Given the description of an element on the screen output the (x, y) to click on. 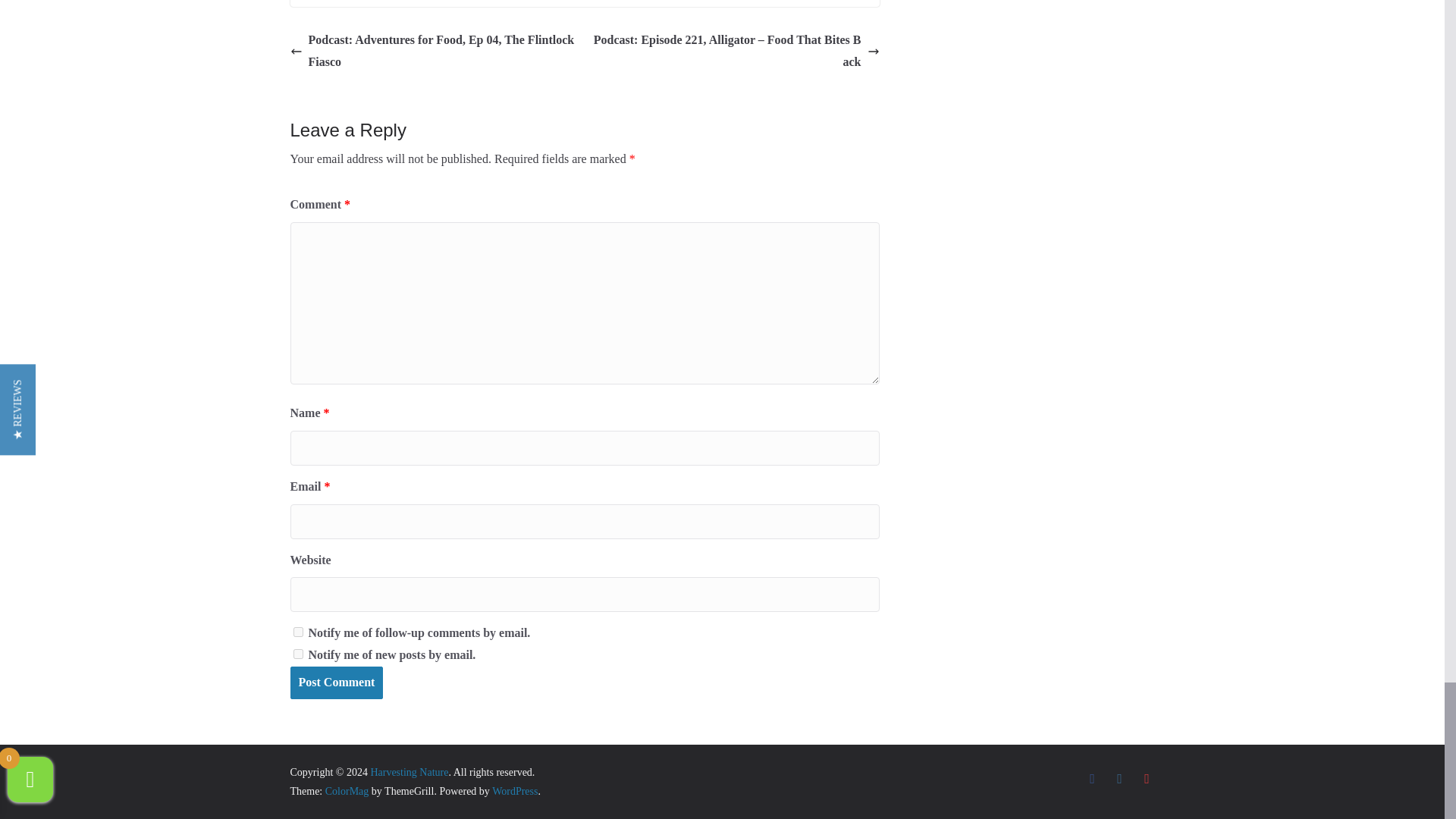
subscribe (297, 632)
subscribe (297, 654)
Post Comment (335, 682)
